Given the description of an element on the screen output the (x, y) to click on. 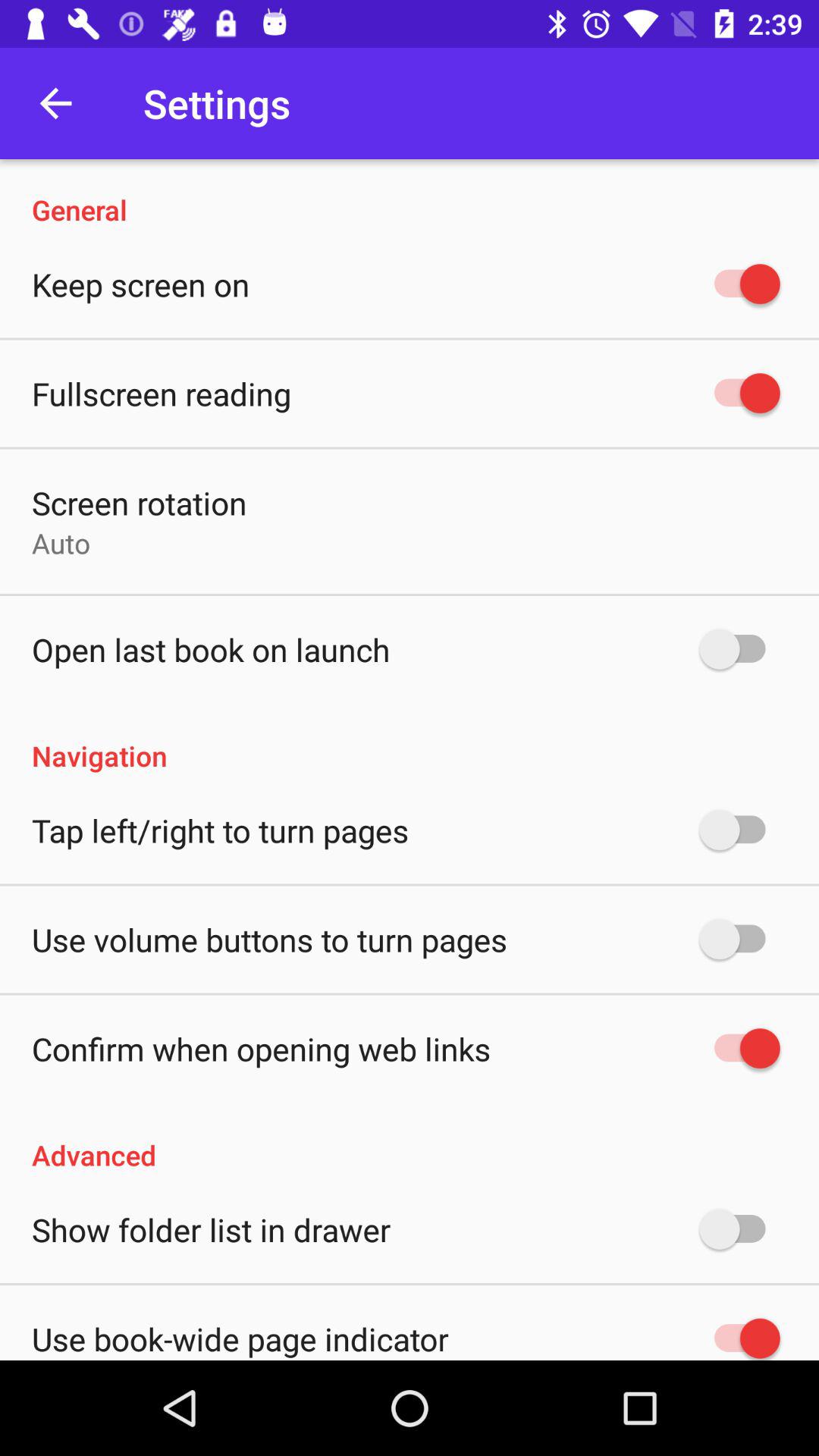
select the icon above confirm when opening item (269, 939)
